Given the description of an element on the screen output the (x, y) to click on. 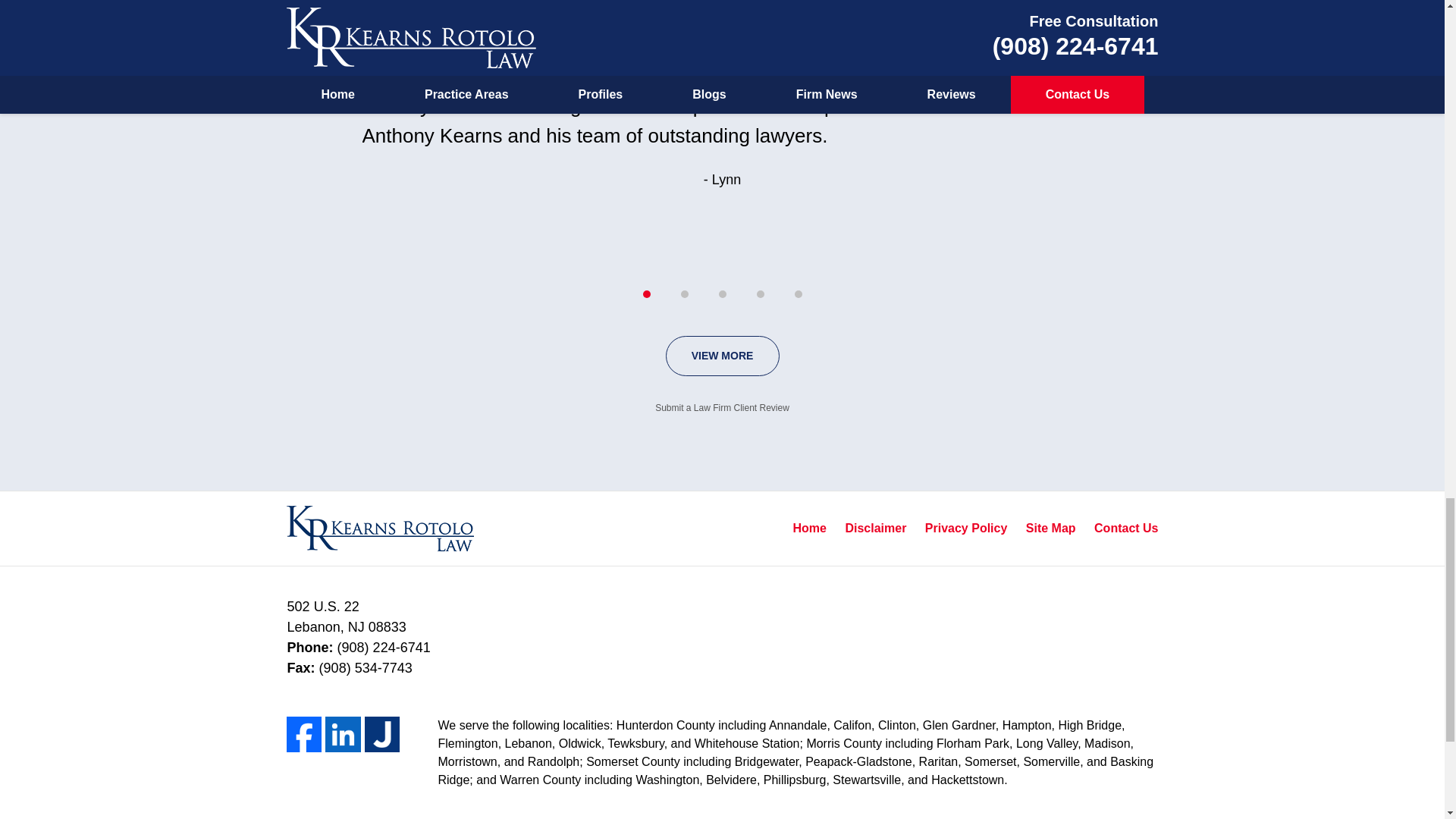
Facebook (303, 734)
Justia (382, 734)
LinkedIn (342, 734)
